Given the description of an element on the screen output the (x, y) to click on. 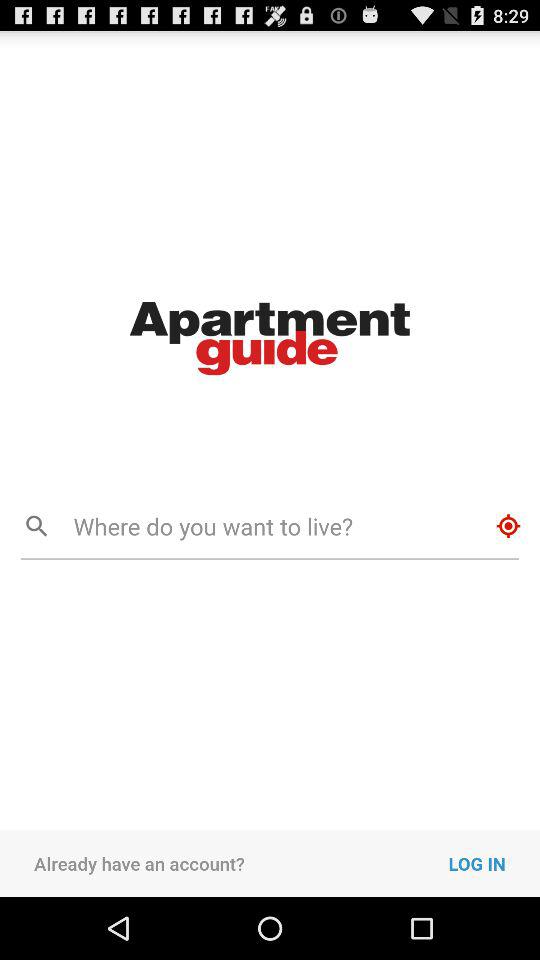
choose the icon on the right (508, 525)
